Given the description of an element on the screen output the (x, y) to click on. 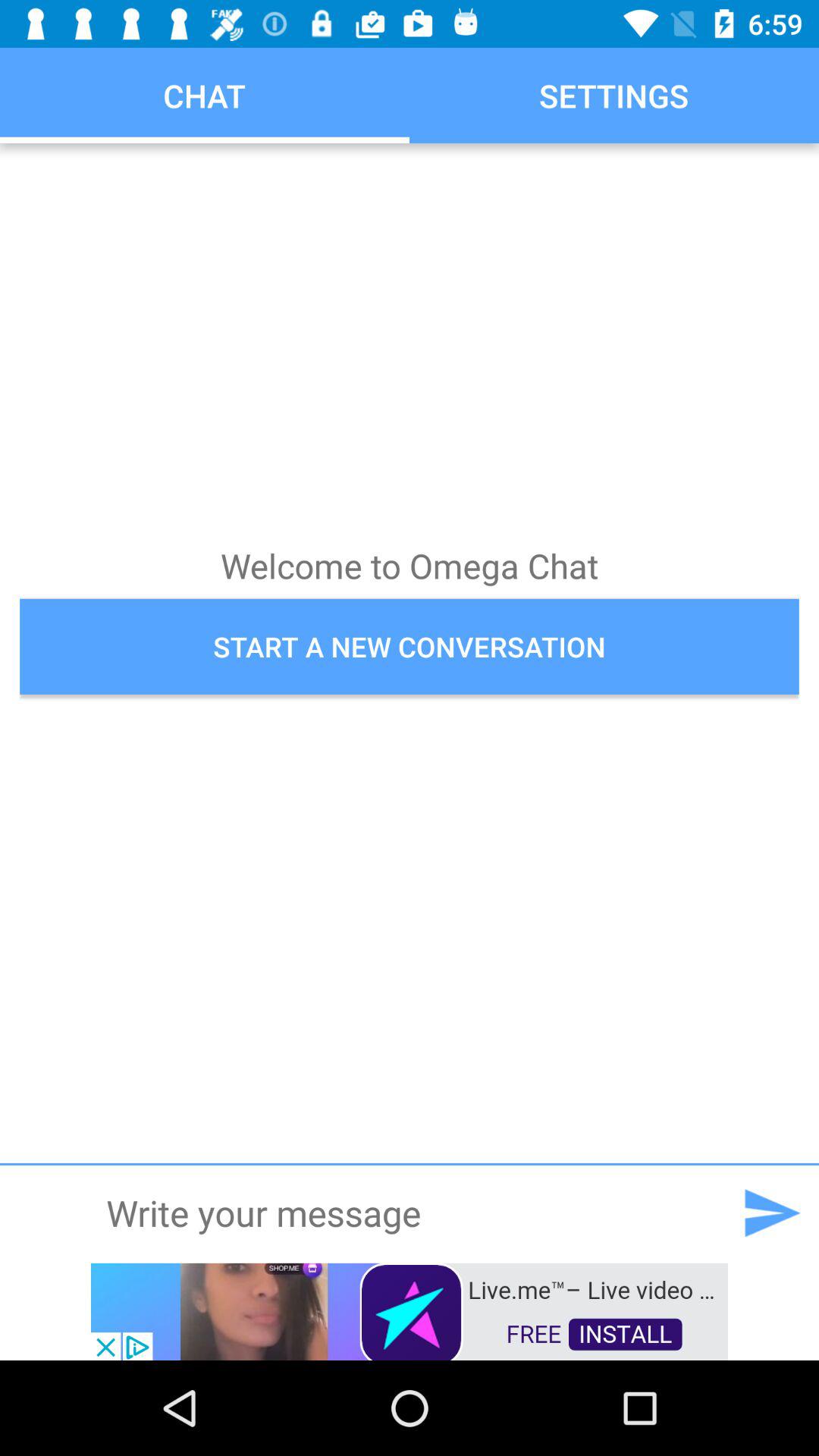
advertisement (409, 1310)
